Given the description of an element on the screen output the (x, y) to click on. 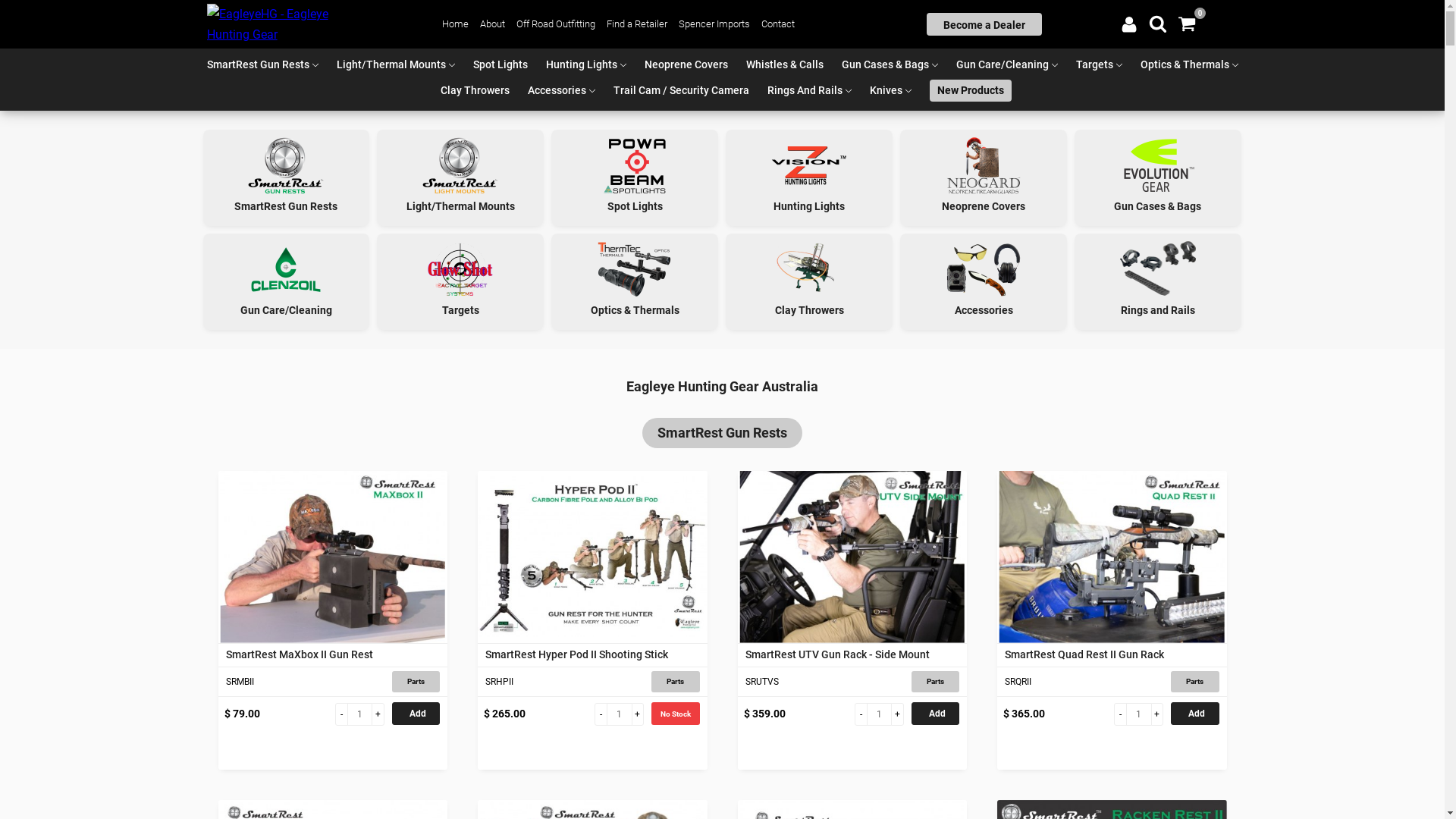
Targets Element type: text (1093, 65)
Spot Lights Element type: text (634, 177)
Trail Cam / Security Camera Element type: text (680, 90)
1 Element type: text (879, 713)
1 Element type: text (360, 713)
0 Element type: text (1186, 23)
SmartRest MaXbox II Gun Rest Element type: hover (333, 556)
1 Element type: text (619, 713)
Accessories Element type: text (556, 90)
Clay Throwers Element type: text (808, 281)
Rings and Rails Element type: text (1157, 281)
Add Element type: text (935, 713)
SmartRest UTV Gun Rack - Side Mount  Element type: hover (851, 556)
Spencer Imports Element type: text (713, 24)
Find a Retailer Element type: text (636, 24)
SmartRest Gun Rests Element type: text (286, 177)
Parts Element type: text (1194, 681)
Whistles & Calls Element type: text (784, 65)
Search Element type: text (24, 9)
Targets Element type: text (460, 281)
Rings And Rails Element type: text (804, 90)
SmartRest Hyper Pod II Shooting Stick Element type: hover (592, 556)
Knives Element type: text (886, 90)
Spot Lights Element type: text (500, 65)
Contact Element type: text (777, 24)
Clay Throwers Element type: text (475, 90)
Optics & Thermals Element type: text (634, 281)
Accessories Element type: text (983, 281)
Parts Element type: text (935, 681)
SmartRest Hyper Pod II Shooting Stick Element type: text (592, 654)
Gun Cases & Bags Element type: text (885, 65)
SmartRest UTV Gun Rack - Side Mount Element type: text (851, 654)
About Element type: text (492, 24)
Light/Thermal Mounts Element type: text (460, 177)
Neoprene Covers Element type: text (983, 177)
Hunting Lights Element type: text (581, 65)
Off Road Outfitting Element type: text (555, 24)
Home Element type: text (455, 24)
Gun Care/Cleaning Element type: text (286, 281)
Optics & Thermals Element type: text (1184, 65)
Neoprene Covers Element type: text (686, 65)
Hunting Lights Element type: text (808, 177)
Parts Element type: text (415, 681)
SmartRest MaXbox II Gun Rest Element type: text (333, 654)
Add Element type: text (415, 713)
1 Element type: text (1138, 713)
SmartRest Gun Rests Element type: text (257, 65)
Become a Dealer Element type: text (983, 23)
SmartRest Gun Rests Element type: text (722, 433)
Gun Care/Cleaning Element type: text (1001, 65)
Parts Element type: text (675, 681)
No Stock Element type: text (675, 713)
New Products Element type: text (970, 90)
Add Element type: text (1194, 713)
SmartRest Quad Rest II Gun Rack Element type: text (1111, 654)
Gun Cases & Bags Element type: text (1157, 177)
Light/Thermal Mounts Element type: text (391, 65)
SmartRest Quad Rest II Gun Rack Element type: hover (1111, 556)
